Given the description of an element on the screen output the (x, y) to click on. 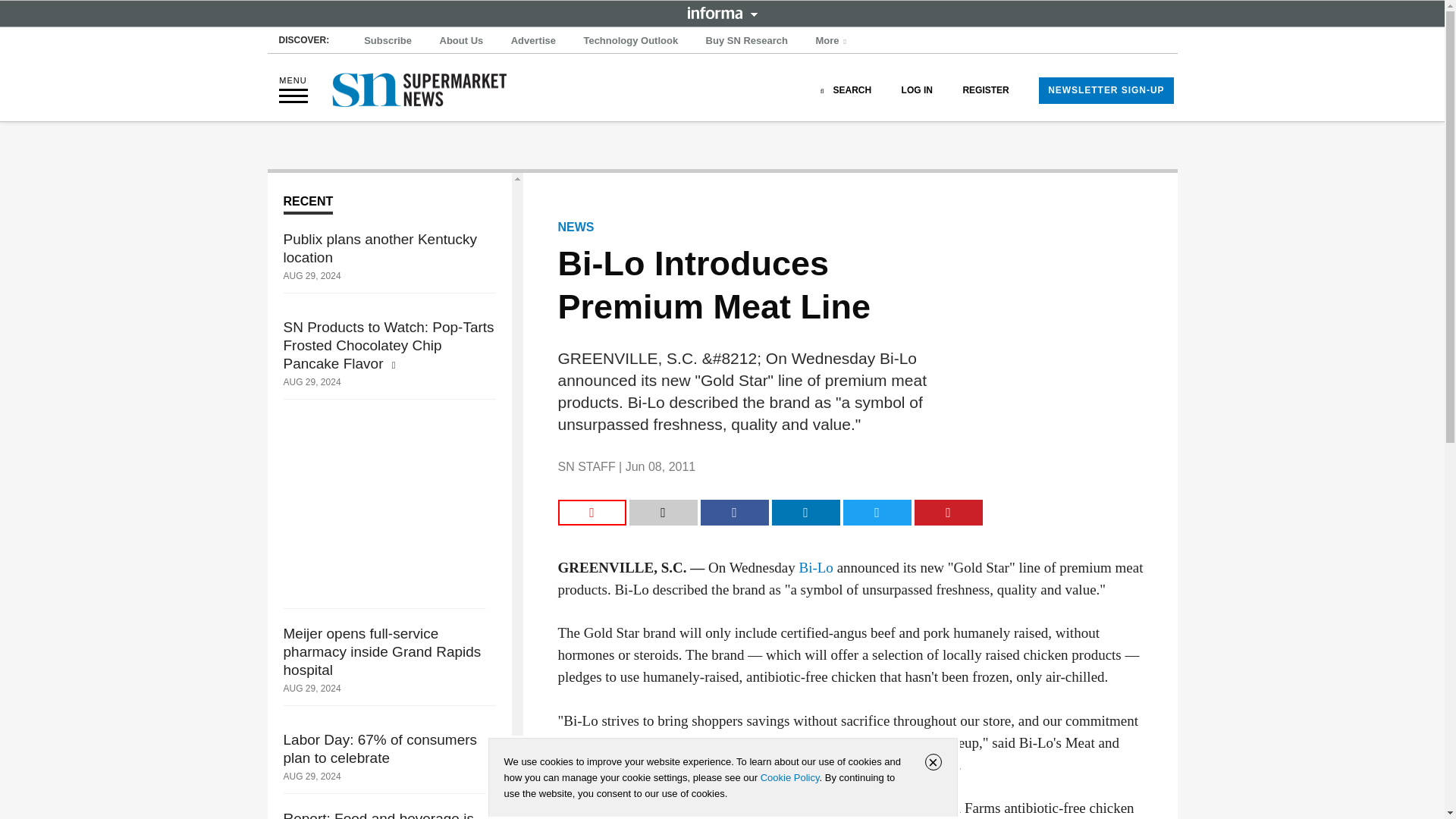
Cookie Policy (789, 777)
About Us (461, 41)
Buy SN Research (746, 41)
More (832, 41)
Subscribe (387, 41)
Advertise (533, 41)
Technology Outlook (630, 41)
INFORMA (722, 12)
